Given the description of an element on the screen output the (x, y) to click on. 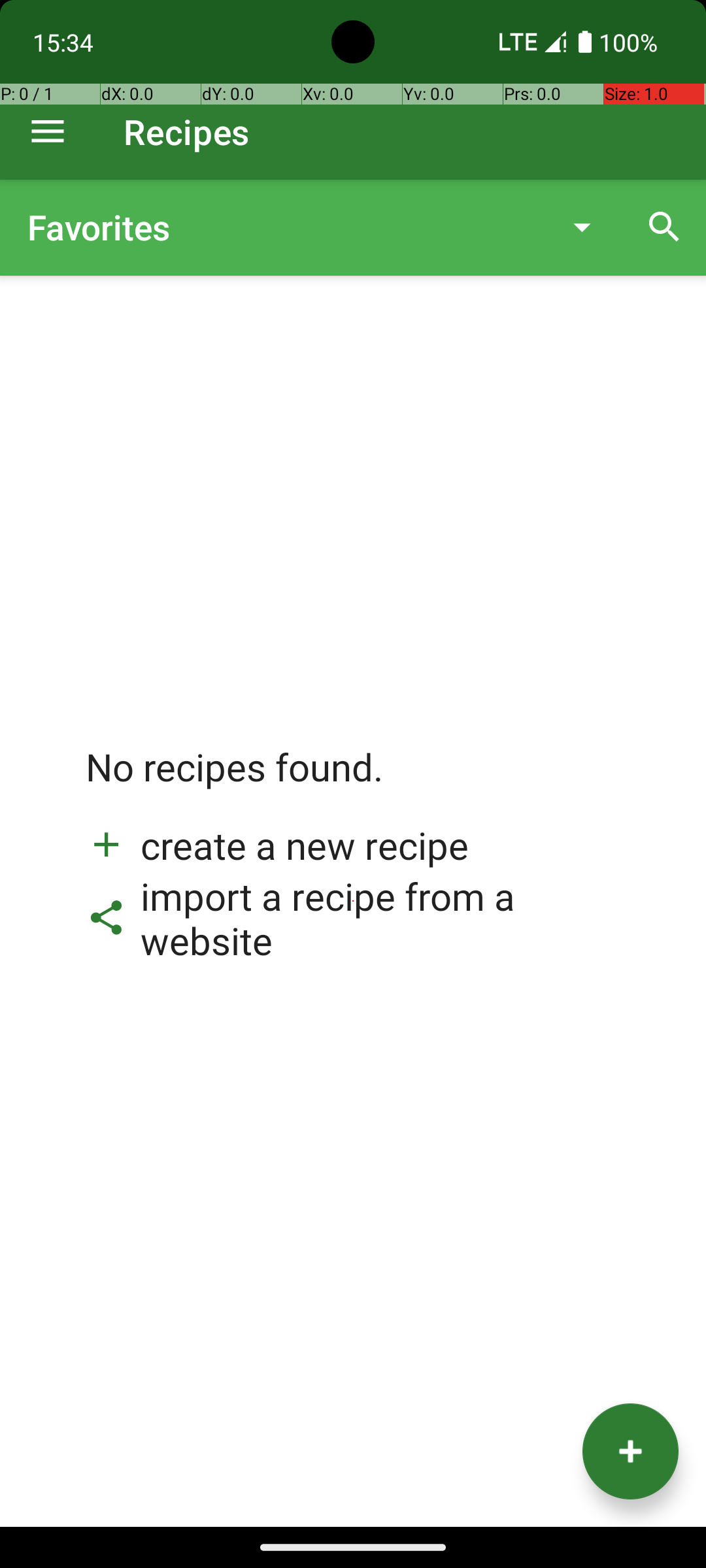
No recipes found. Element type: android.widget.TextView (234, 779)
create a new recipe Element type: android.widget.TextView (276, 844)
import a recipe from a website Element type: android.widget.TextView (352, 917)
